Given the description of an element on the screen output the (x, y) to click on. 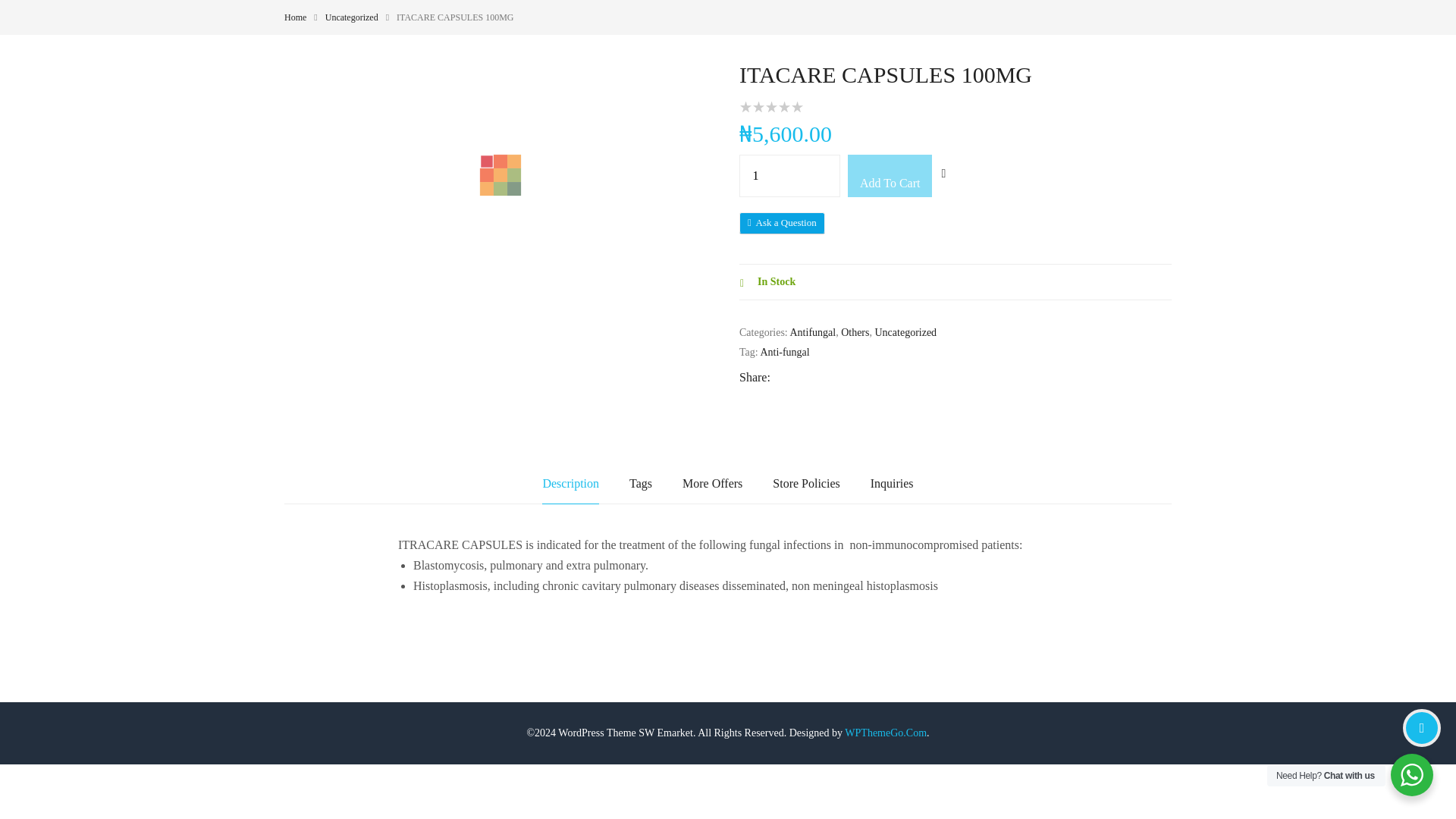
Add To Cart (889, 175)
WPThemeGo.Com (885, 732)
Antifungal (812, 332)
Others (855, 332)
Inquiries (892, 484)
Store Policies (806, 484)
  Ask a Question (782, 222)
Home (294, 17)
More Offers (712, 484)
Description (569, 484)
Anti-fungal (784, 351)
Uncategorized (351, 17)
Uncategorized (905, 332)
